Given the description of an element on the screen output the (x, y) to click on. 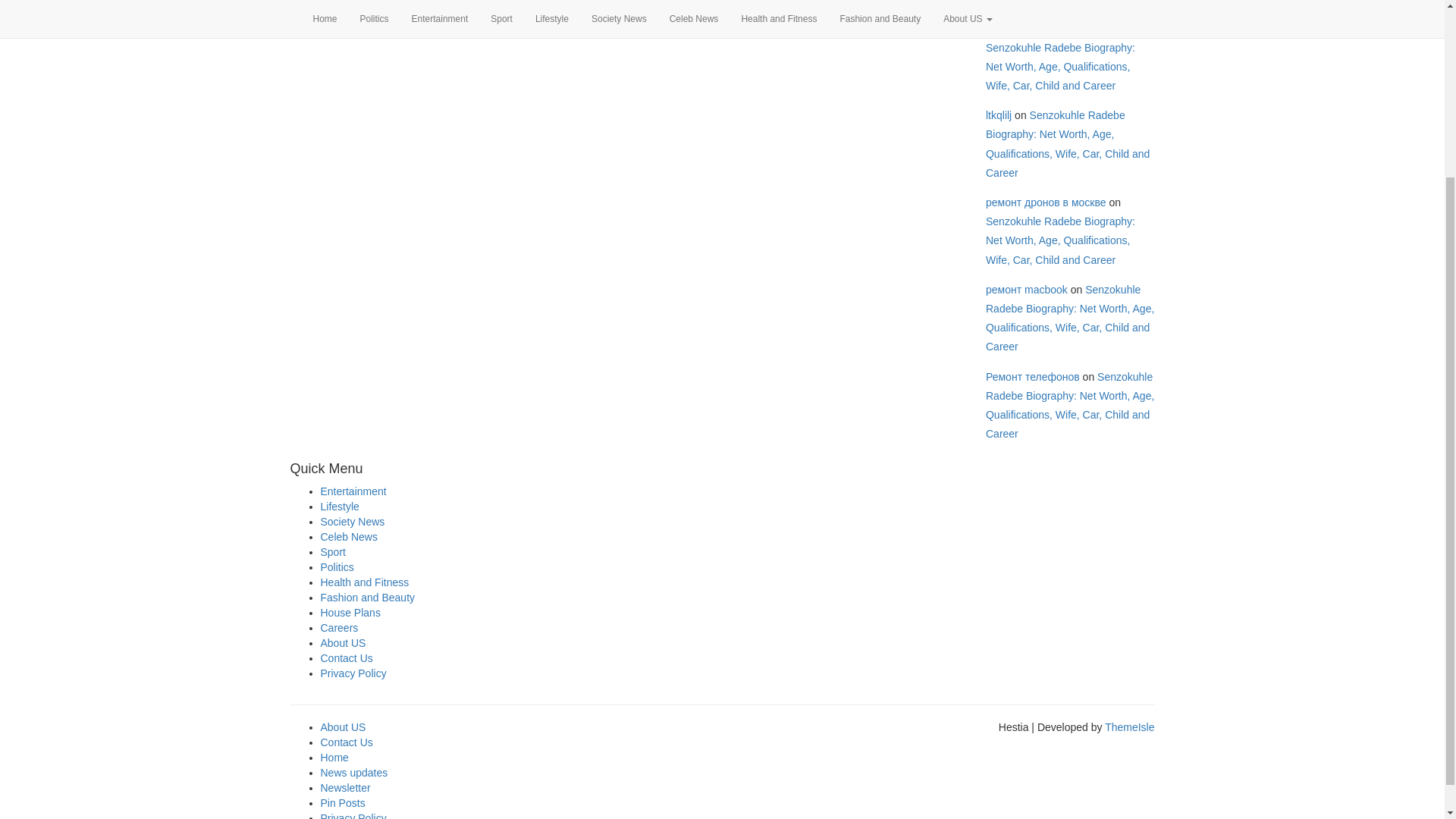
Society News (352, 521)
About US (342, 643)
Fashion and Beauty (367, 597)
Sport (332, 551)
ltkqlilj (998, 114)
Careers (339, 627)
Entertainment (352, 491)
Health and Fitness (364, 582)
